Given the description of an element on the screen output the (x, y) to click on. 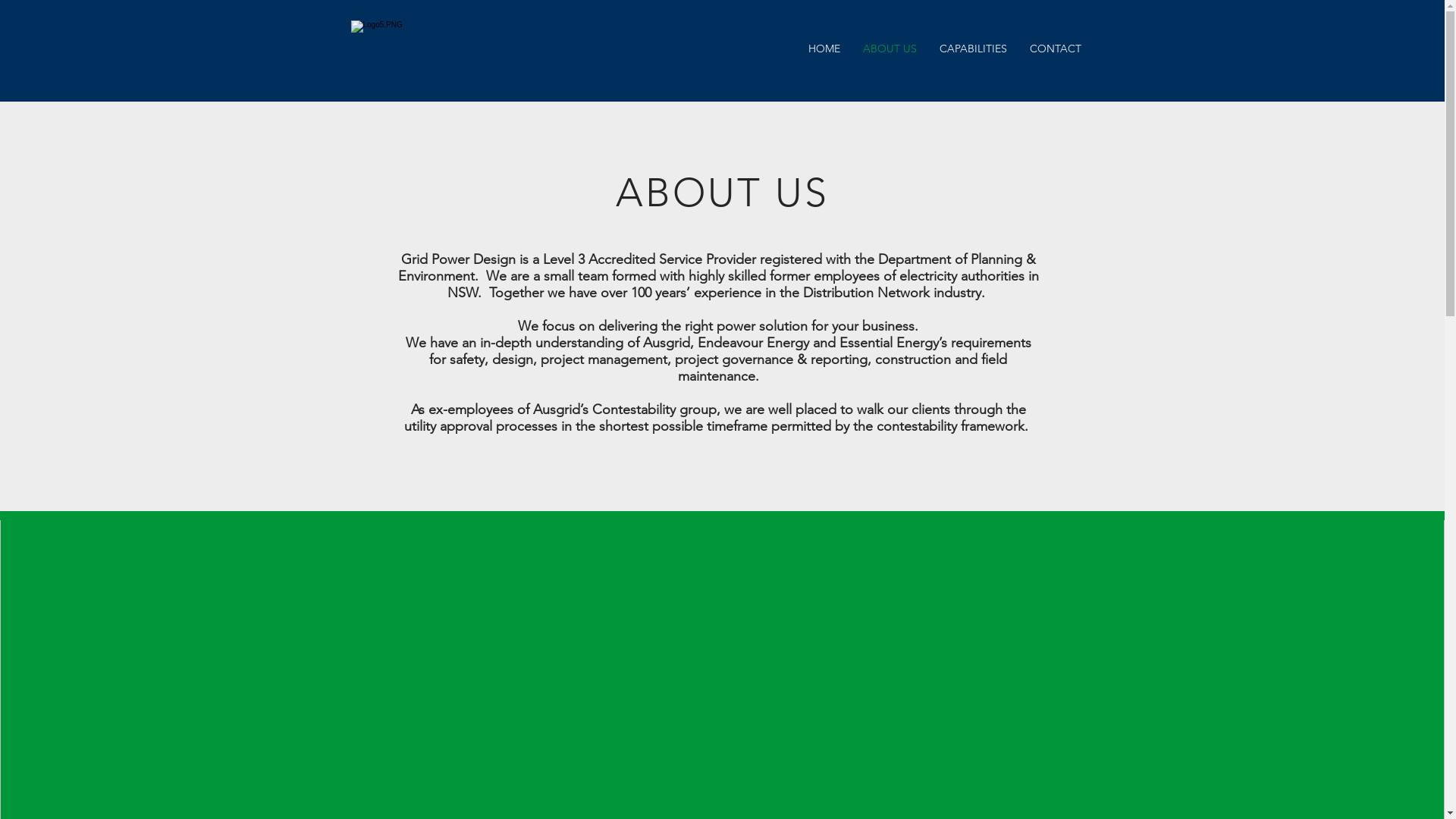
HOME Element type: text (823, 48)
ABOUT US Element type: text (888, 48)
CAPABILITIES Element type: text (973, 48)
CONTACT Element type: text (1054, 48)
